Given the description of an element on the screen output the (x, y) to click on. 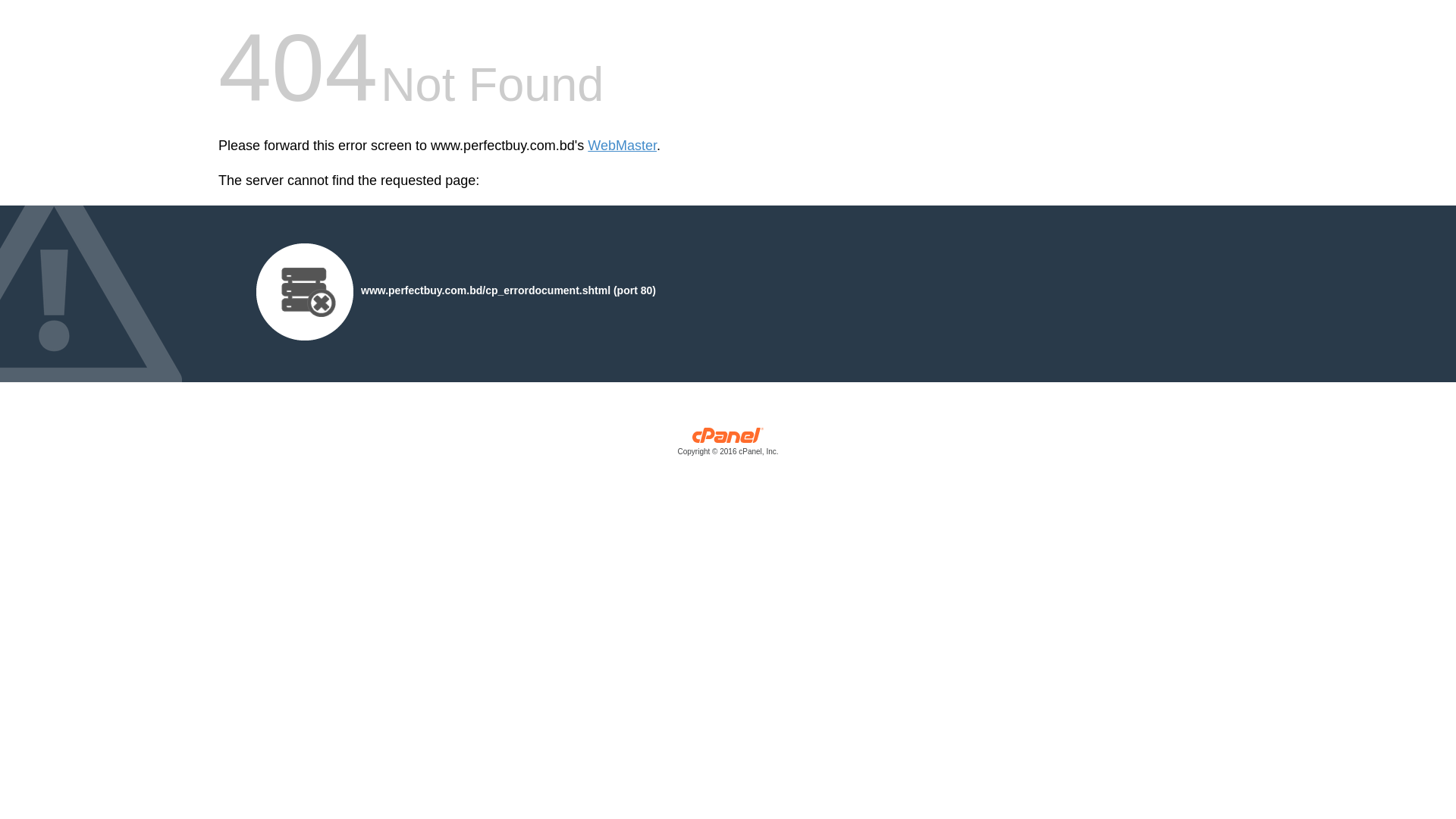
WebMaster Element type: text (621, 145)
